Given the description of an element on the screen output the (x, y) to click on. 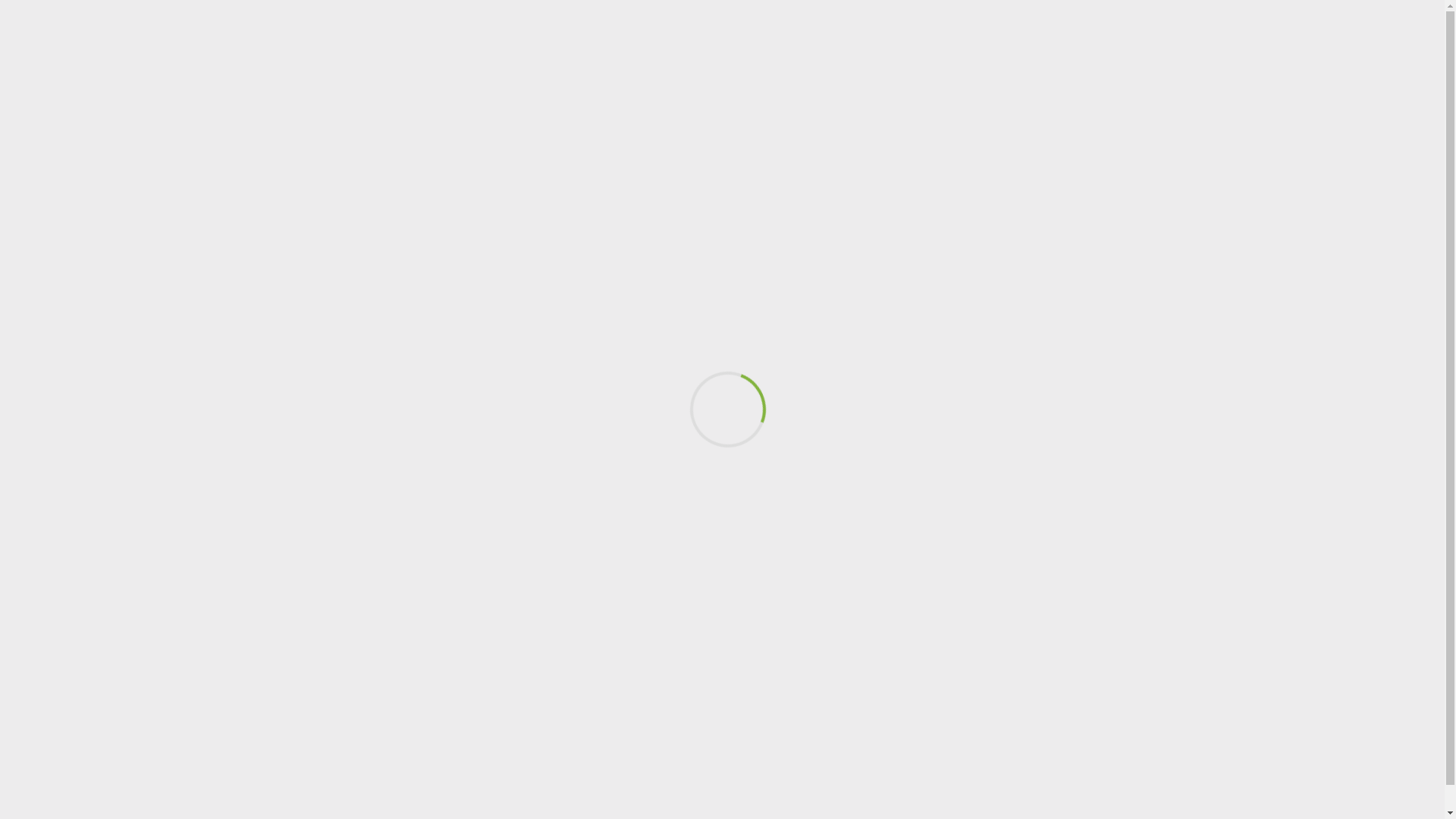
DE Element type: text (1072, 55)
Datenschutz Element type: text (1144, 778)
MENU Element type: text (1196, 50)
FR Element type: text (1095, 55)
Alle Kontakte Element type: text (300, 778)
Impressum Element type: text (1204, 778)
IT Element type: text (1114, 55)
Zweiphasen
ausbildung Element type: text (399, 66)
